Given the description of an element on the screen output the (x, y) to click on. 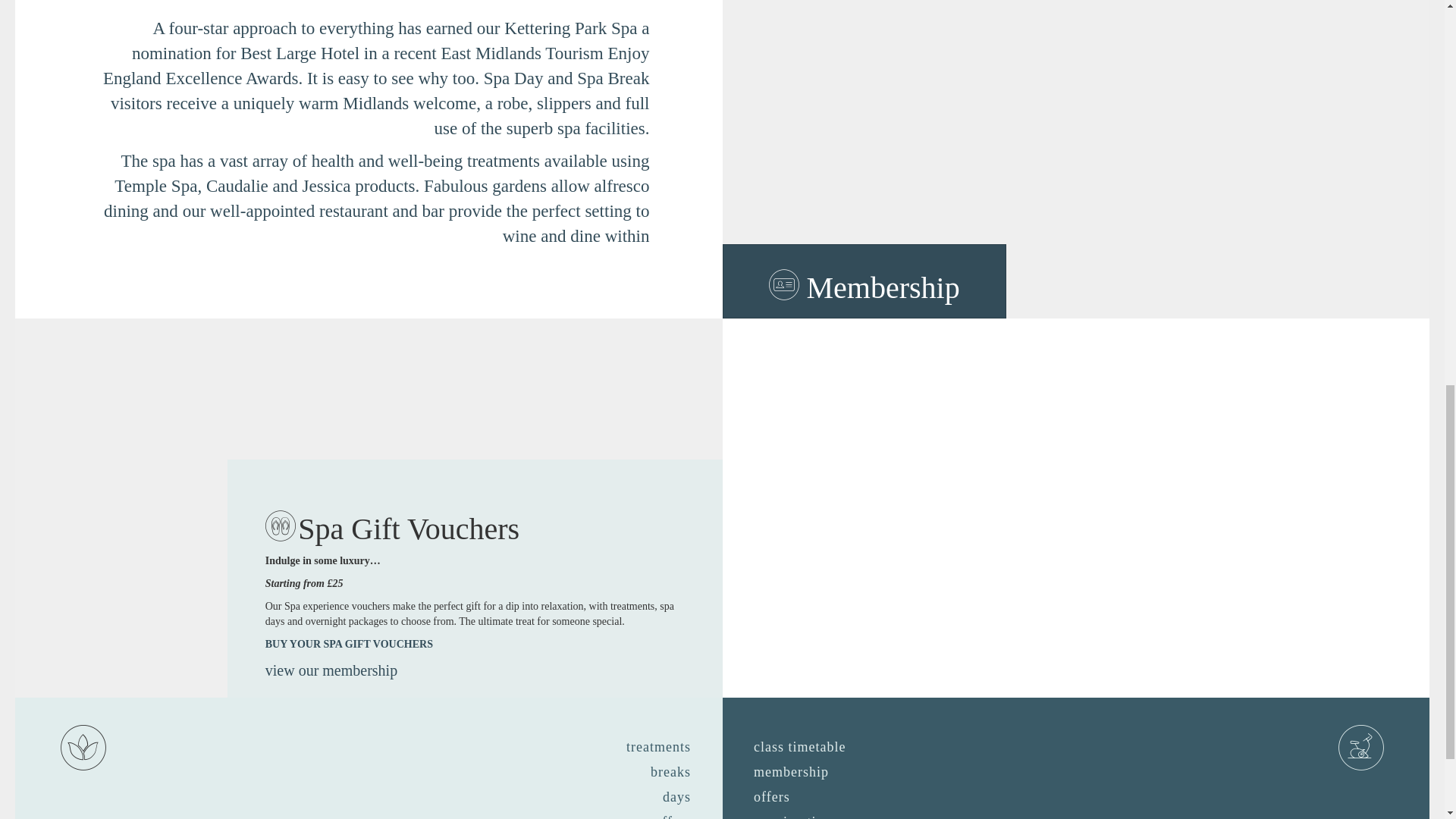
treatments (658, 747)
BUY YOUR SPA GIFT VOUCHERS (348, 644)
class timetable (799, 747)
opening times (796, 814)
offers (771, 797)
breaks (670, 772)
offers (672, 814)
Membership (864, 281)
membership (790, 772)
view our membership (330, 670)
days (676, 797)
